Given the description of an element on the screen output the (x, y) to click on. 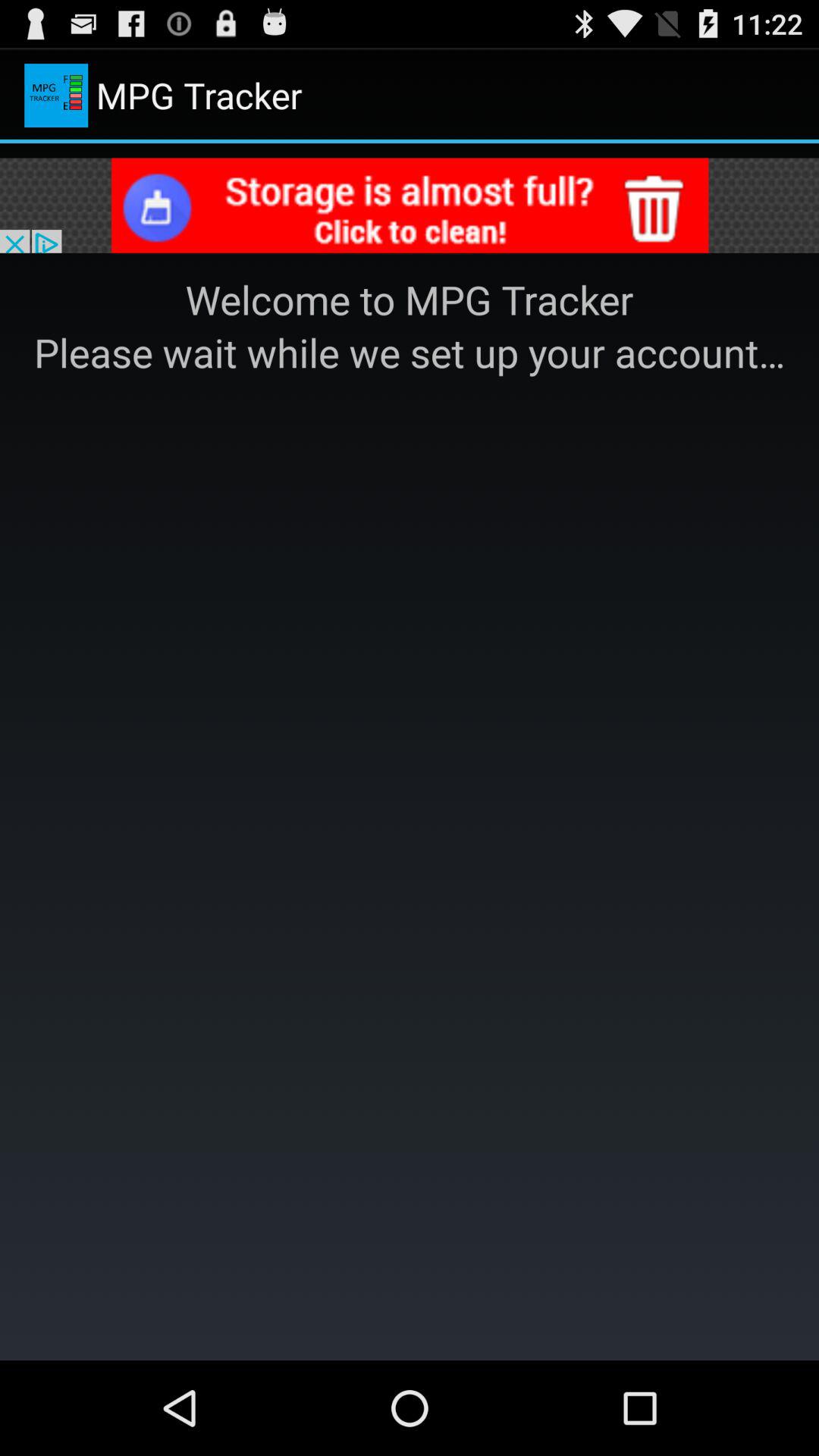
advertising (409, 207)
